Given the description of an element on the screen output the (x, y) to click on. 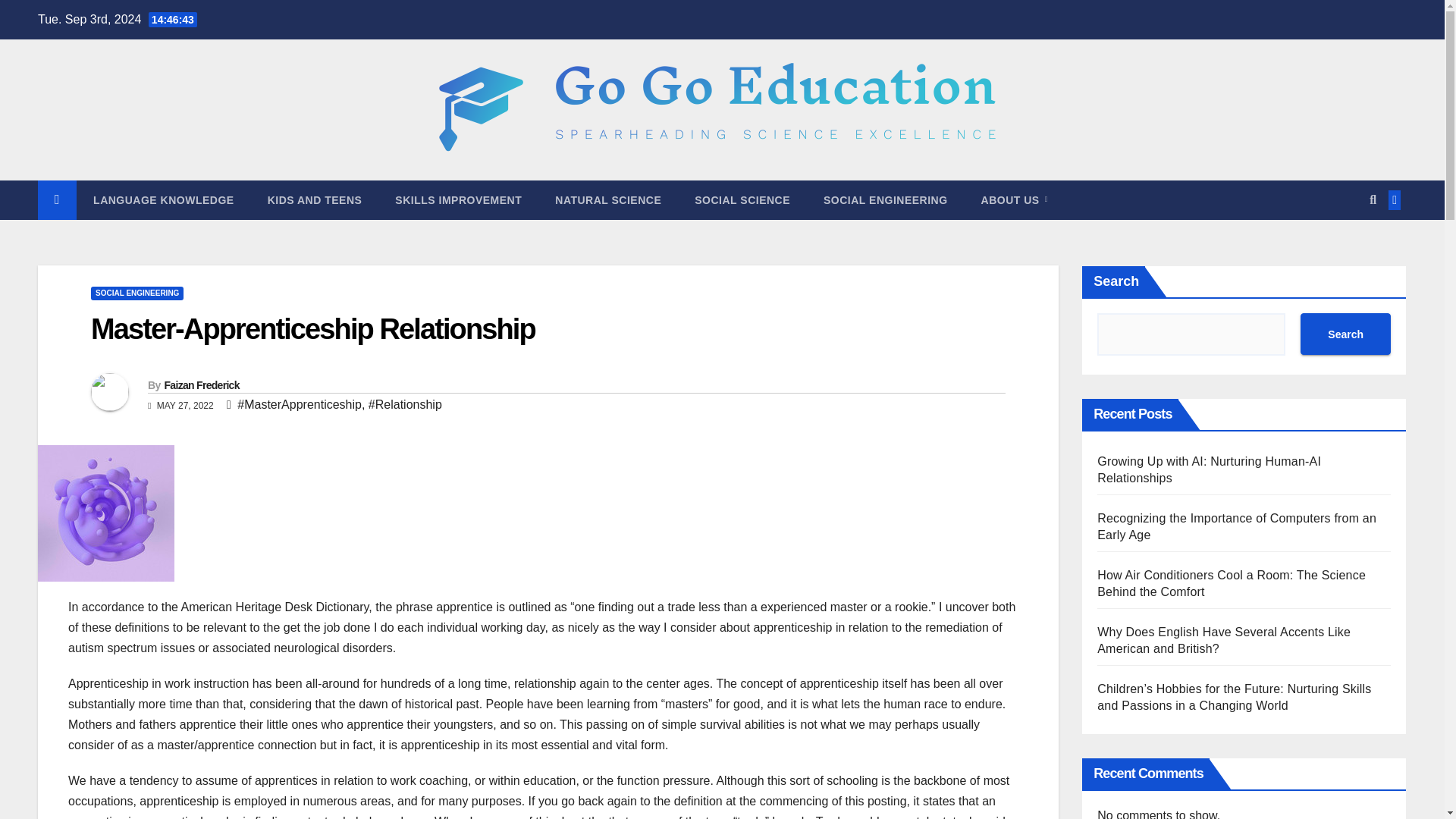
SKILLS IMPROVEMENT (458, 200)
Permalink to: Master-Apprenticeship Relationship (312, 328)
Natural Science (608, 200)
SOCIAL SCIENCE (742, 200)
Faizan Frederick (200, 385)
Social Science (742, 200)
ABOUT US (1013, 200)
SOCIAL ENGINEERING (884, 200)
LANGUAGE KNOWLEDGE (163, 200)
About Us (1013, 200)
